Given the description of an element on the screen output the (x, y) to click on. 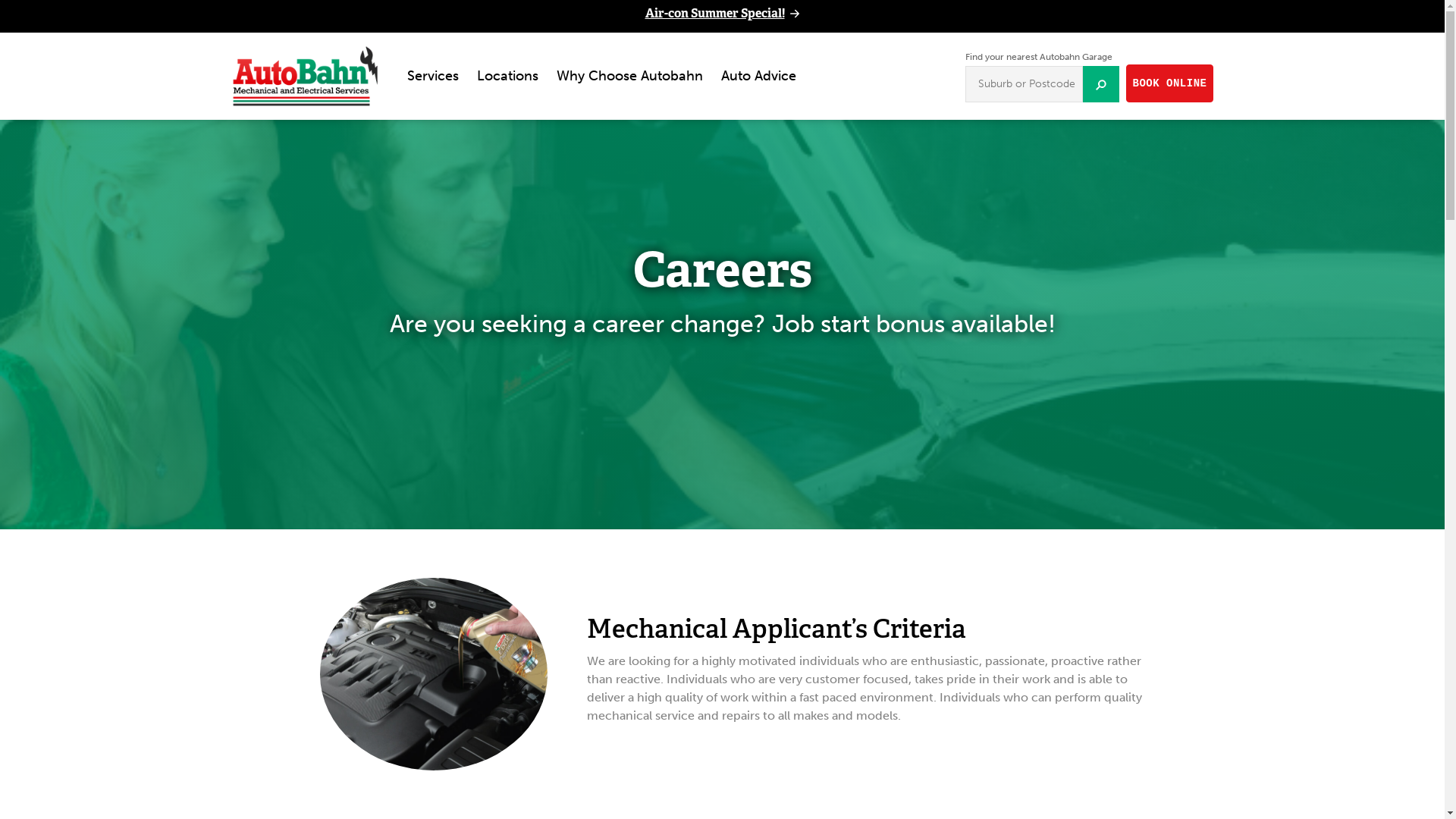
BOOK ONLINE Element type: text (1170, 83)
Air-con Summer Special! Element type: text (721, 13)
Auto Advice Element type: text (757, 75)
Car Service & Auto Mechanic Repair Shop in Perth | Autobahn Element type: hover (304, 75)
Services Element type: text (432, 75)
Locations Element type: text (506, 75)
Why Choose Autobahn Element type: text (629, 75)
